Given the description of an element on the screen output the (x, y) to click on. 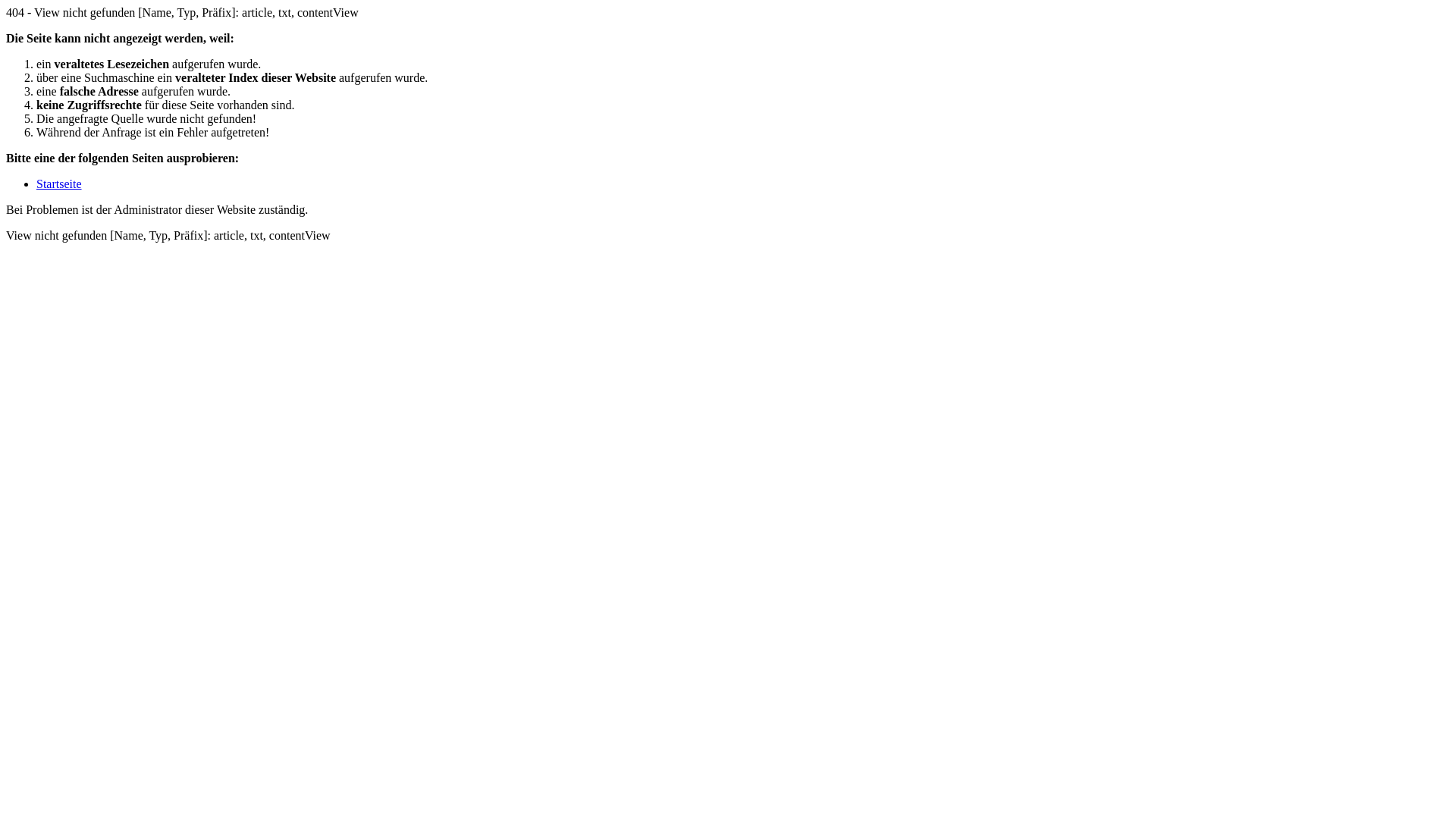
Startseite Element type: text (58, 183)
